Given the description of an element on the screen output the (x, y) to click on. 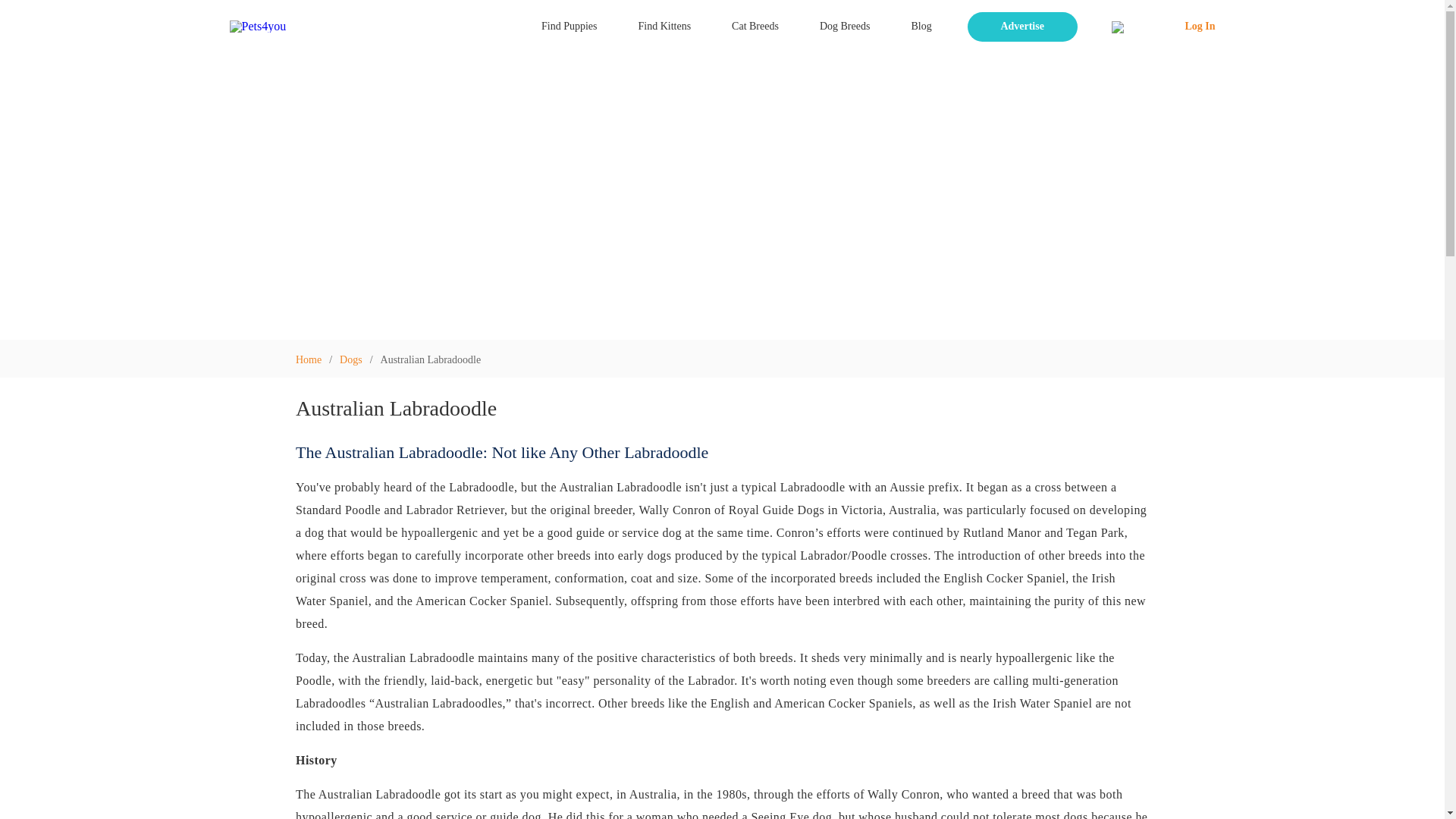
Log In (1157, 26)
Dog Breeds (845, 26)
Cat Breeds (755, 26)
Advertise (1022, 26)
Home (312, 358)
Find Kittens (664, 26)
Blog (920, 26)
Advertise (1018, 26)
Dogs (354, 358)
Find Puppies (569, 26)
